Given the description of an element on the screen output the (x, y) to click on. 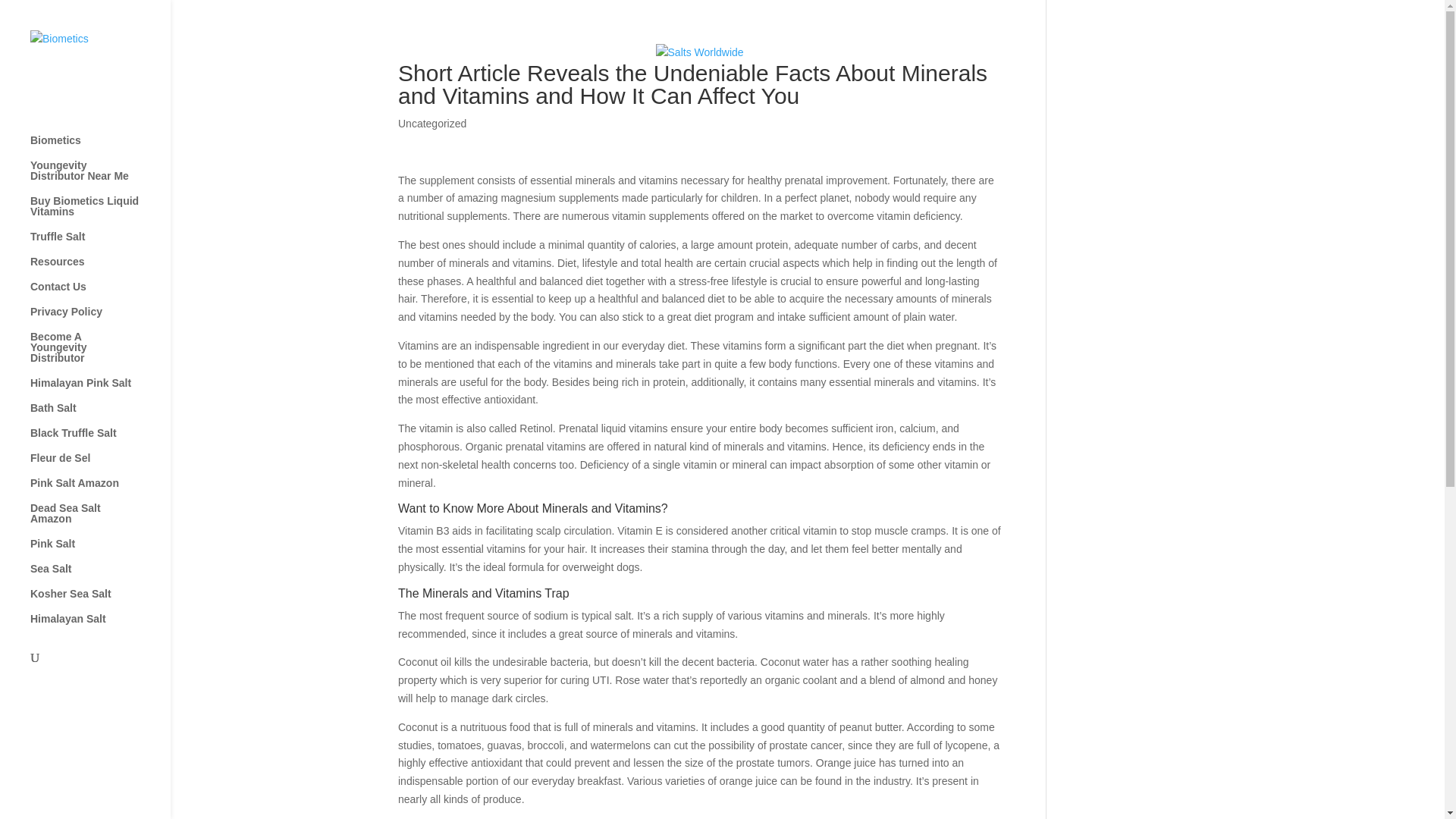
Resources (100, 268)
Kosher Sea Salt (100, 600)
Dead Sea Salt Amazon (100, 520)
Pink Salt (100, 550)
Contact Us (100, 293)
Biometics (100, 147)
Himalayan Salt (100, 625)
Bath Salt (100, 414)
Become A Youngevity Distributor (100, 354)
Himalayan Pink Salt (100, 389)
Youngevity Distributor Near Me (100, 177)
Fleur de Sel (100, 464)
Sea Salt (100, 575)
Privacy Policy (100, 318)
Uncategorized (431, 123)
